Given the description of an element on the screen output the (x, y) to click on. 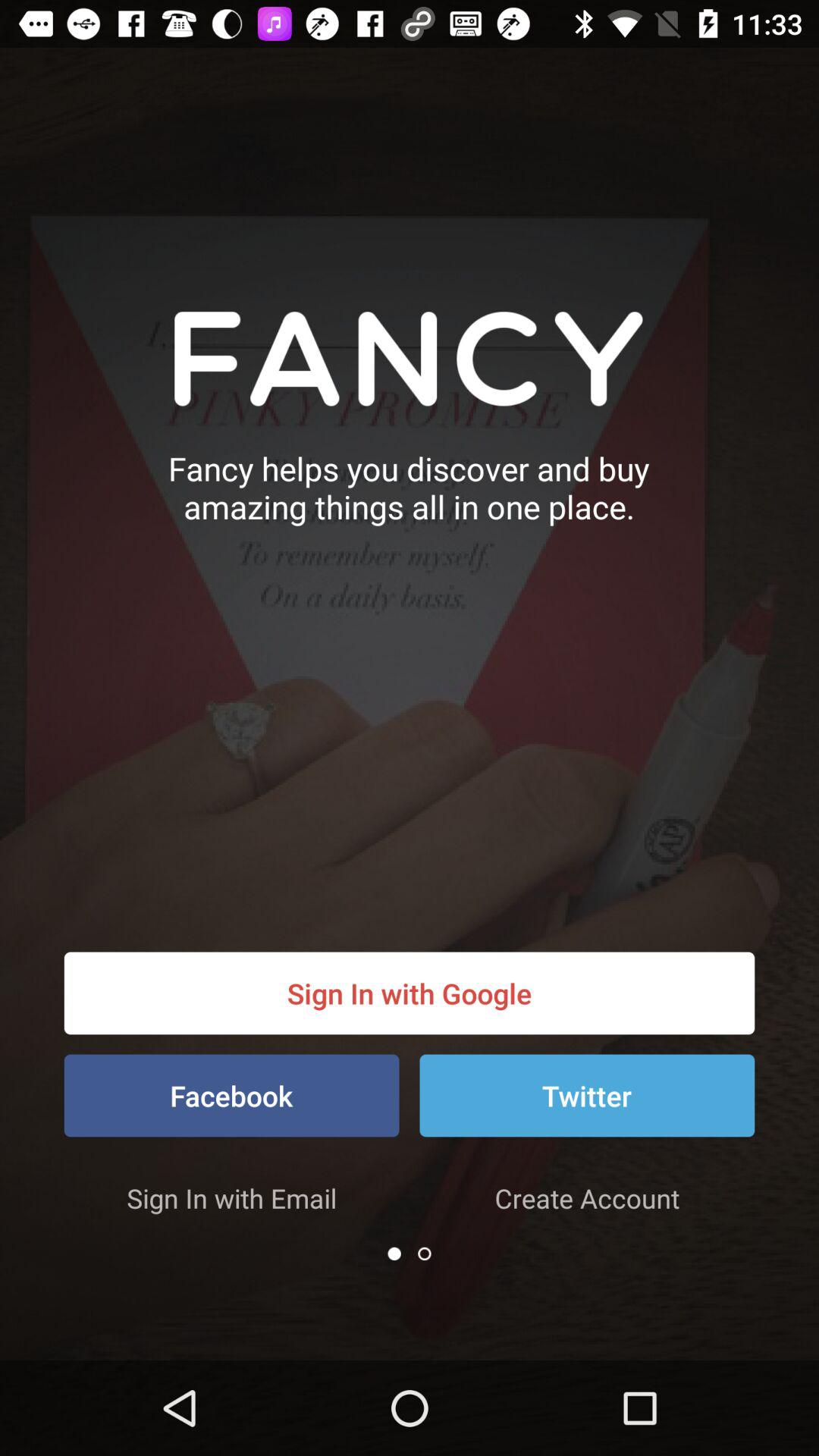
select the icon next to facebook item (586, 1095)
